Given the description of an element on the screen output the (x, y) to click on. 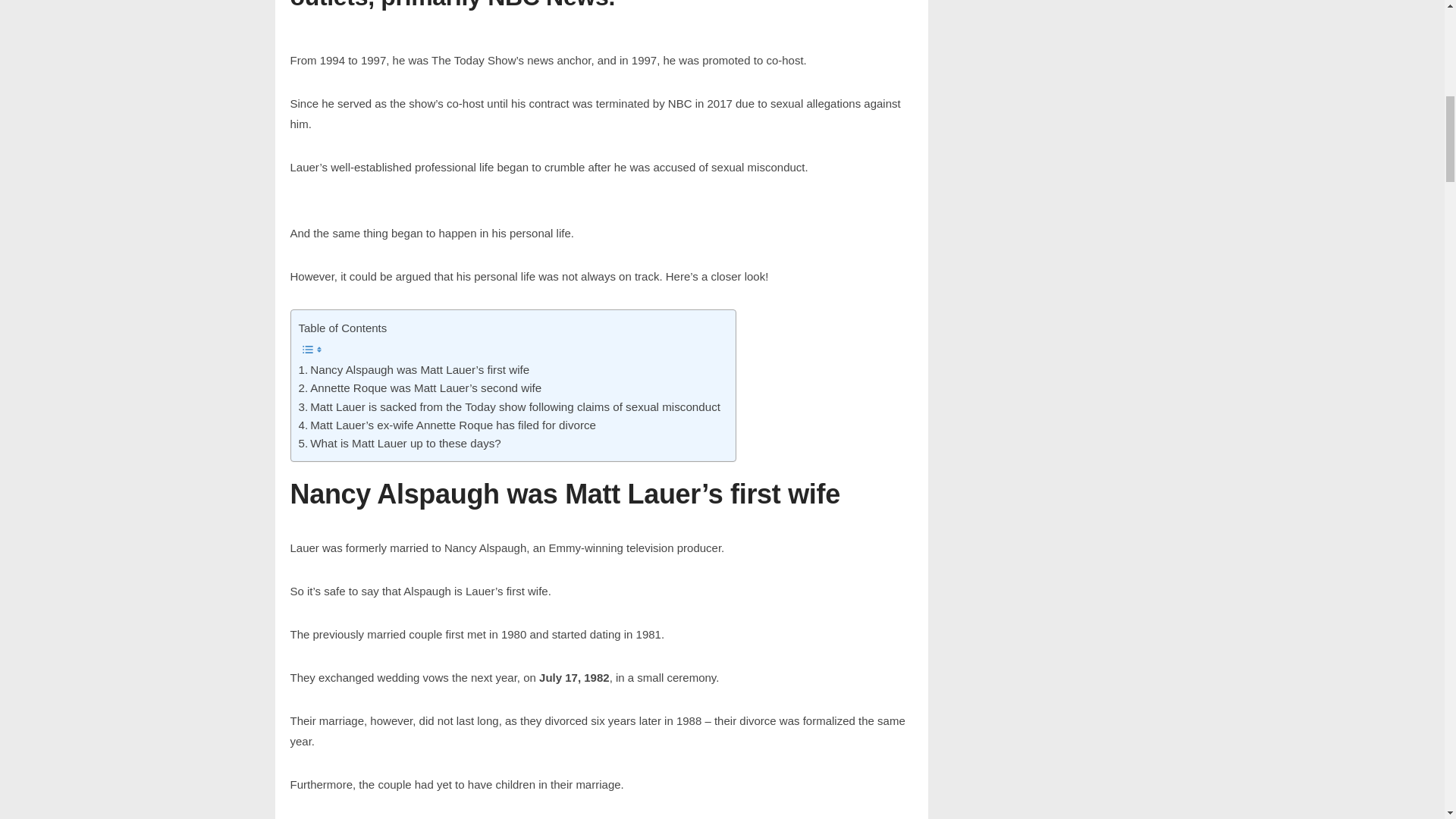
What is Matt Lauer up to these days? (399, 443)
What is Matt Lauer up to these days? (399, 443)
